Given the description of an element on the screen output the (x, y) to click on. 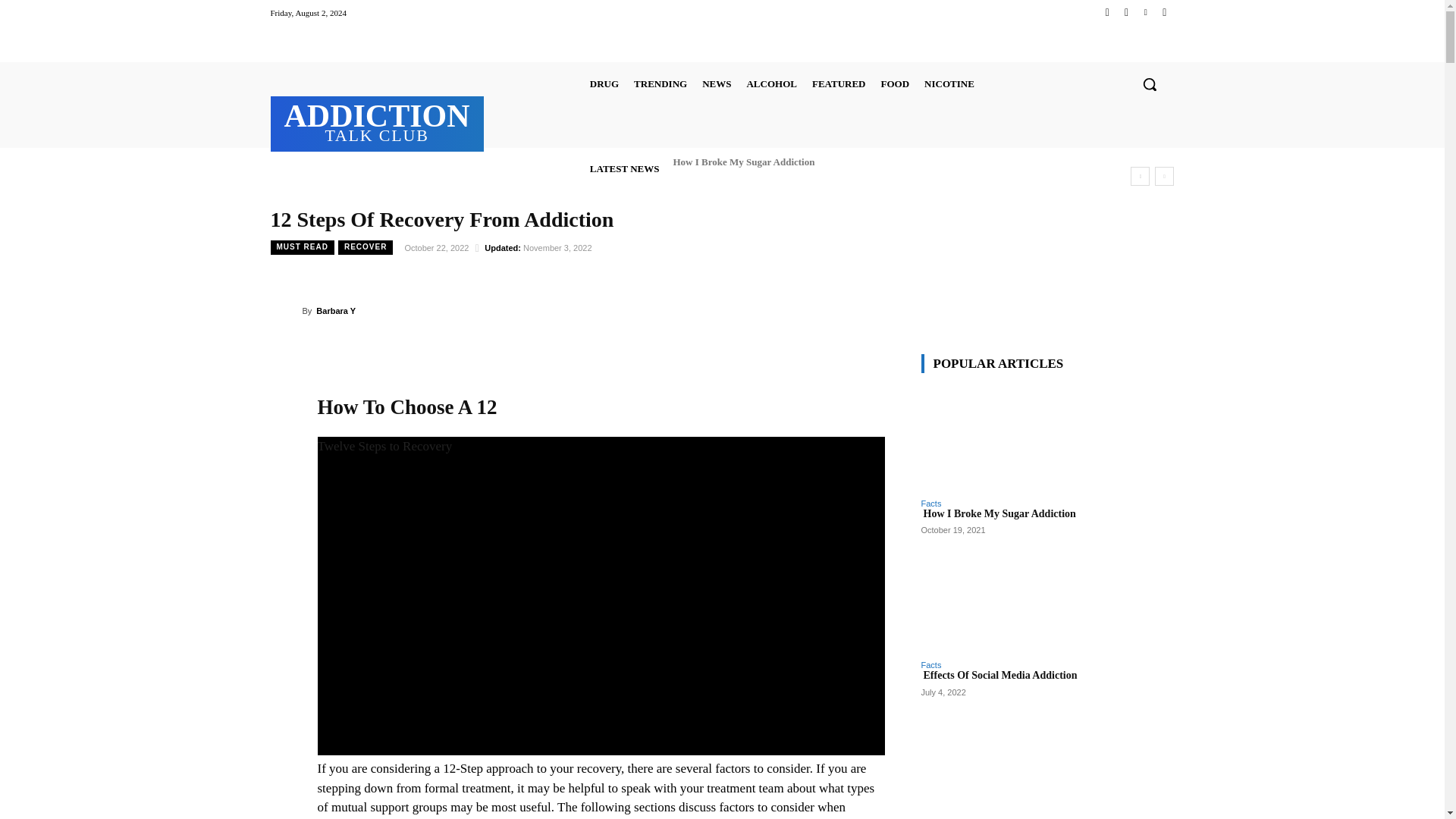
Facebook (376, 121)
TRENDING (1106, 12)
DRUG (660, 83)
Instagram (603, 83)
